Given the description of an element on the screen output the (x, y) to click on. 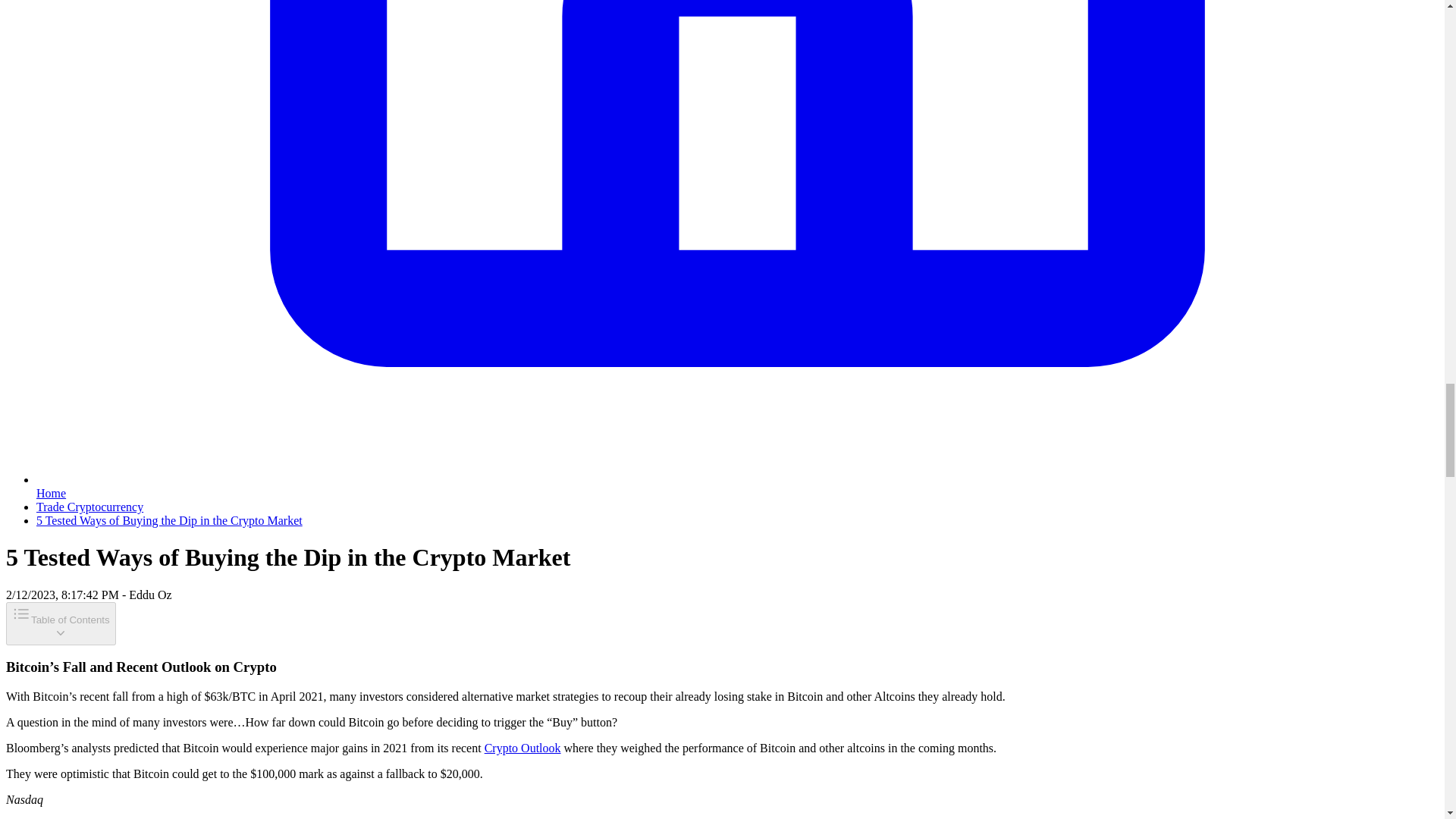
Table of Contents (60, 623)
Trade Cryptocurrency (89, 506)
Crypto Outlook (522, 748)
5 Tested Ways of Buying the Dip in the Crypto Market (169, 520)
